Given the description of an element on the screen output the (x, y) to click on. 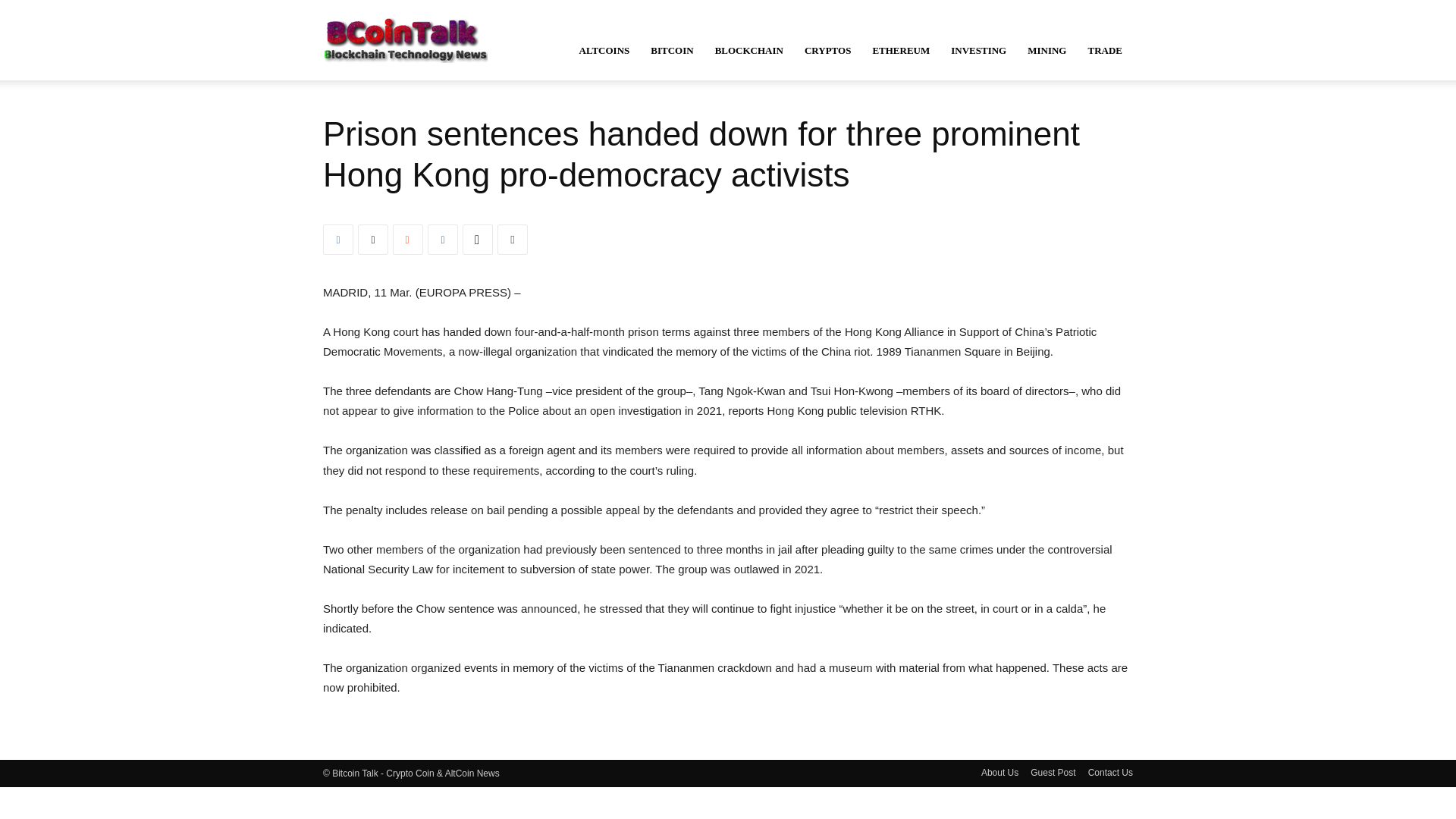
Facebook (338, 239)
Unlock Bitcoin Insights and Trends (405, 39)
BITCOIN (671, 50)
Mix (408, 239)
ETHEREUM (900, 50)
MINING (1046, 50)
Twitter (373, 239)
CRYPTOS (827, 50)
TRADE (1104, 50)
BLOCKCHAIN (748, 50)
